Given the description of an element on the screen output the (x, y) to click on. 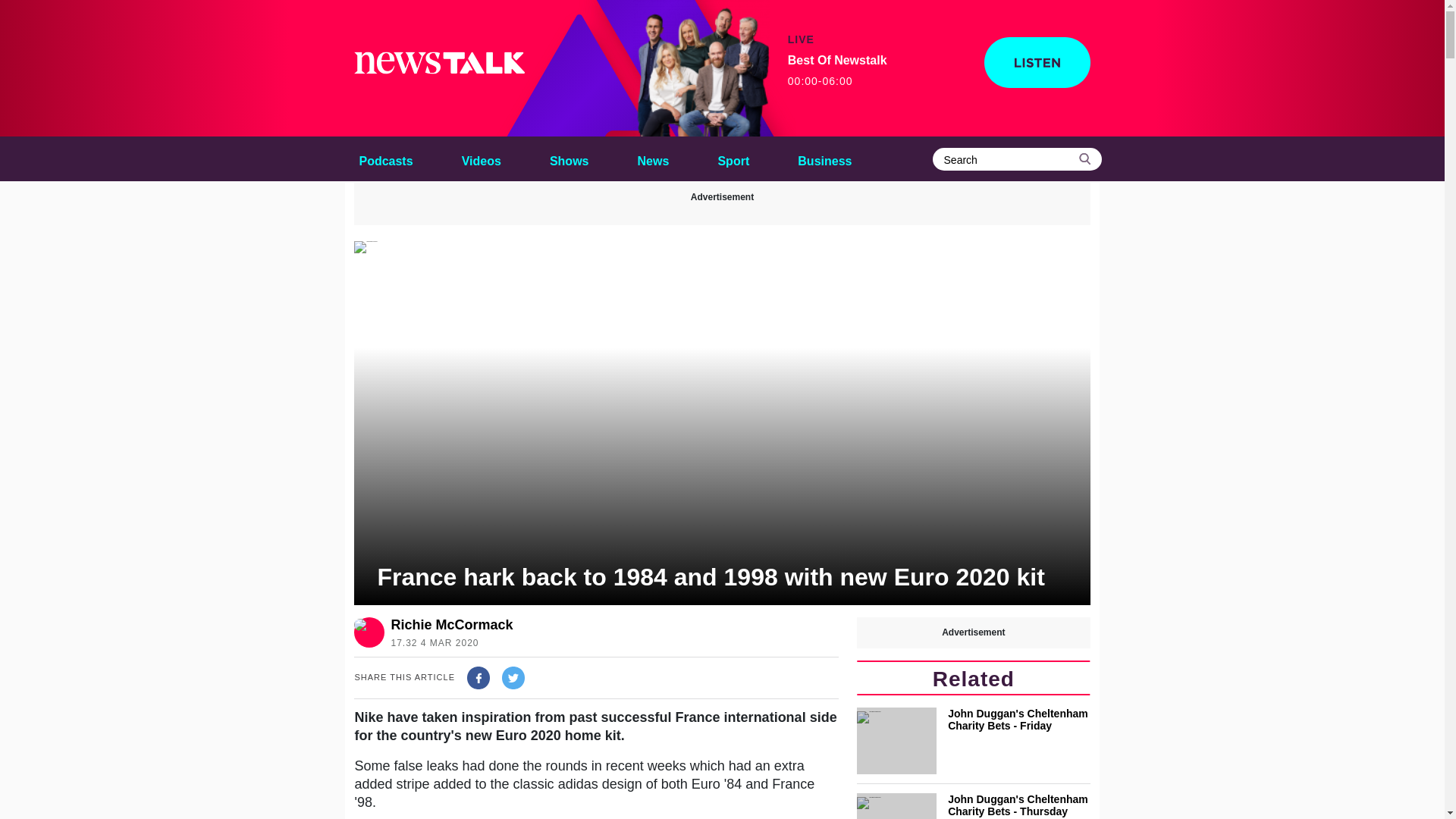
News (653, 158)
Videos (481, 158)
Podcasts (384, 158)
Shows (569, 158)
Sport (733, 158)
Best Of Newstalk (701, 68)
Shows (569, 158)
Sport (733, 158)
Richie McCormack (451, 624)
